Given the description of an element on the screen output the (x, y) to click on. 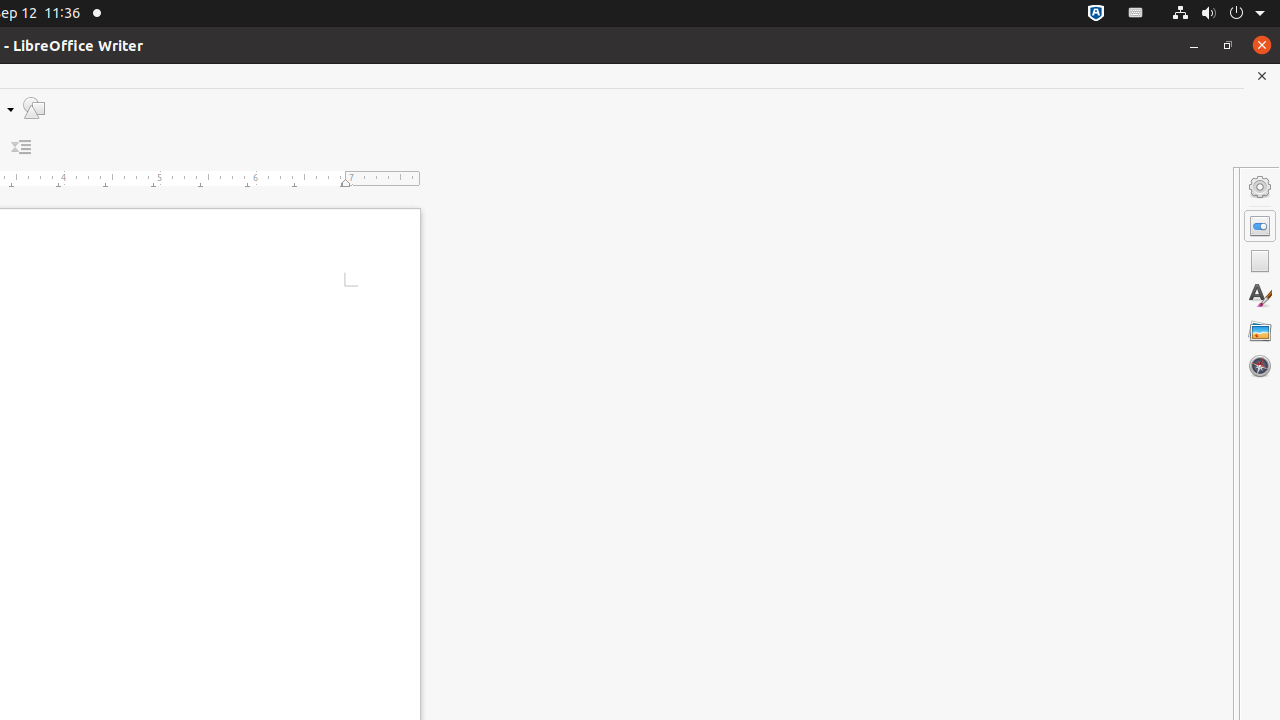
Page Element type: radio-button (1260, 261)
org.kde.StatusNotifierItem-14077-1 Element type: menu (1136, 13)
:1.72/StatusNotifierItem Element type: menu (1096, 13)
System Element type: menu (1218, 13)
Gallery Element type: radio-button (1260, 331)
